Given the description of an element on the screen output the (x, y) to click on. 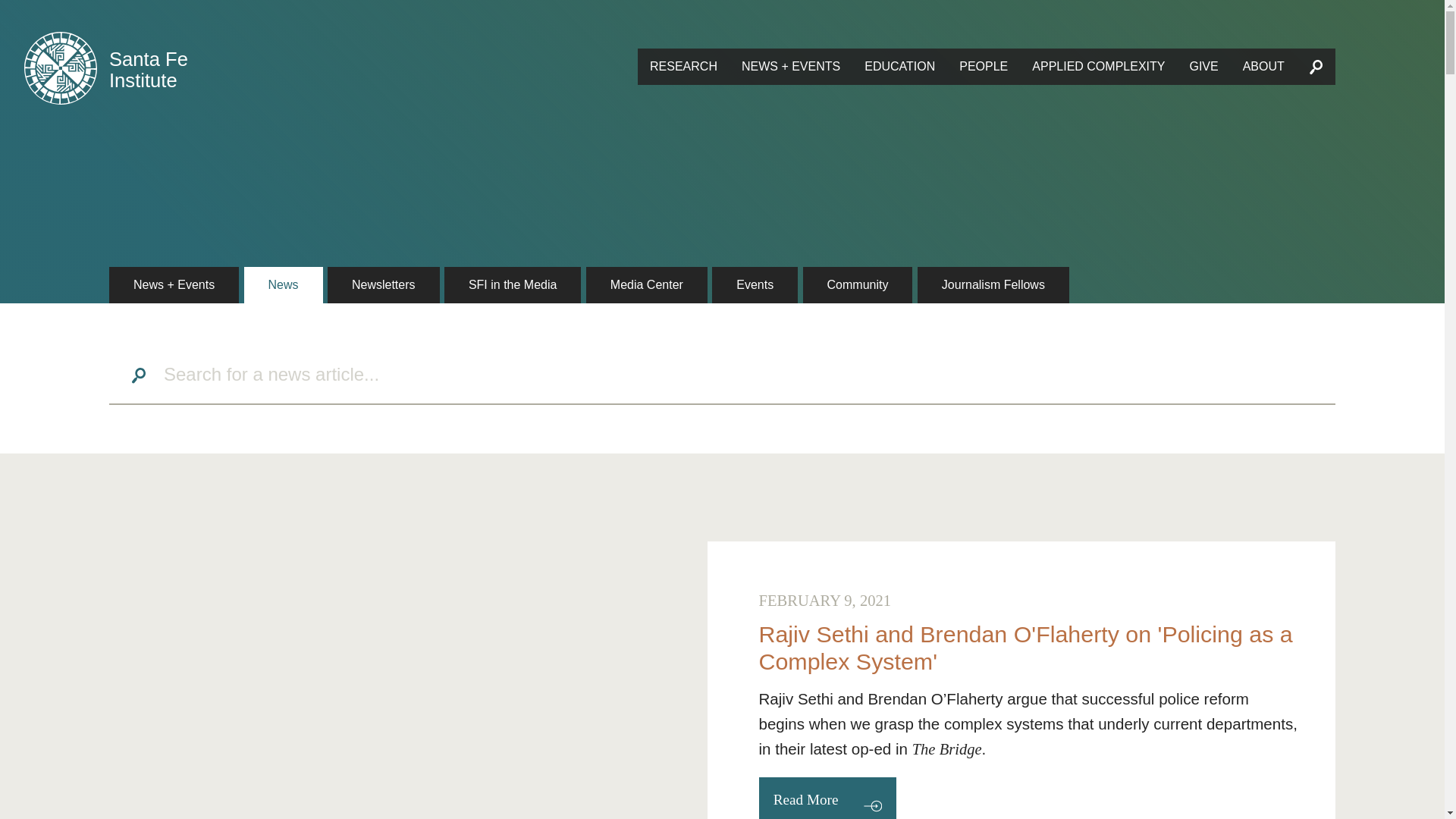
EDUCATION (899, 66)
RESEARCH (683, 66)
APPLIED COMPLEXITY (1098, 66)
PEOPLE (983, 66)
